Given the description of an element on the screen output the (x, y) to click on. 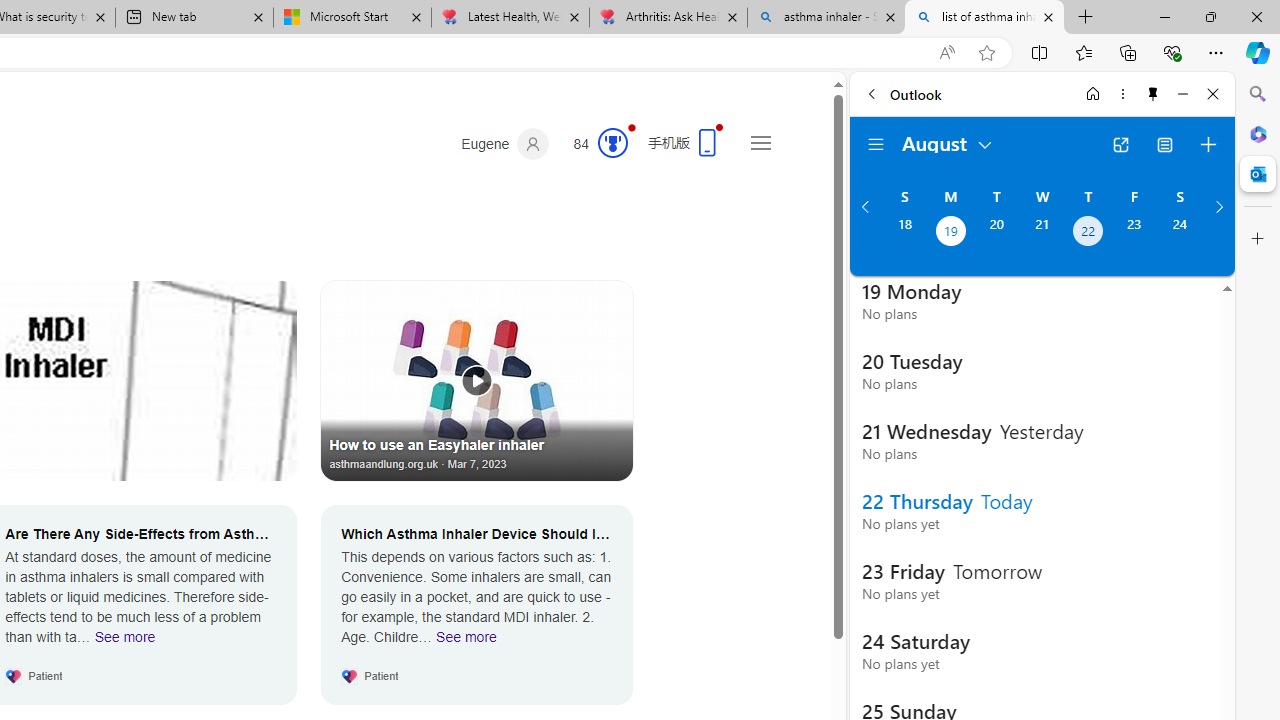
Thursday, August 22, 2024. Today.  (1088, 233)
Folder navigation (876, 144)
How to use an Easyhaler inhaler (477, 380)
Create event (1208, 144)
Settings and quick links (760, 142)
Animation (632, 127)
Microsoft Rewards 84 (594, 143)
View Switcher. Current view is Agenda view (1165, 144)
